Given the description of an element on the screen output the (x, y) to click on. 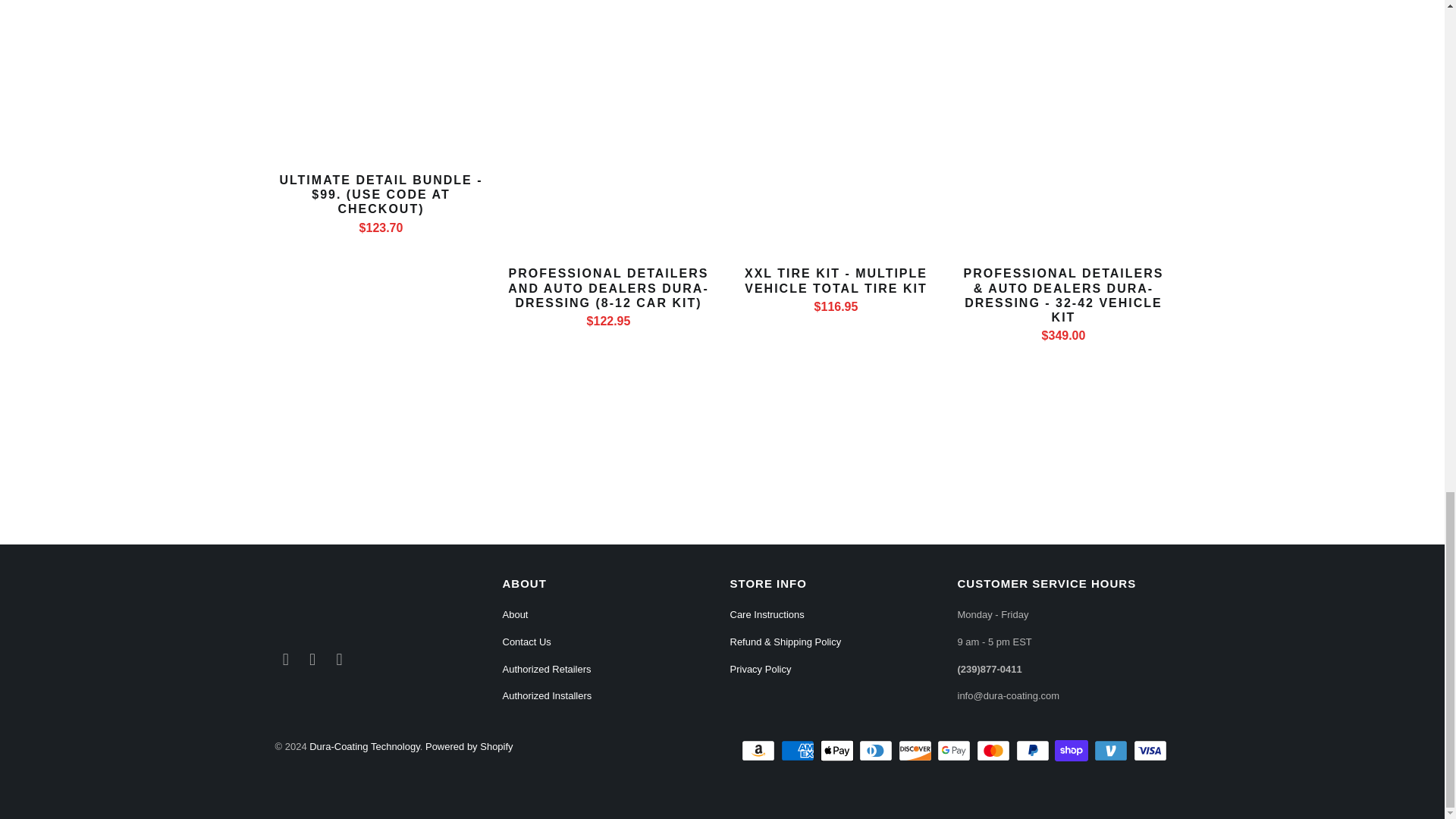
Venmo (1112, 750)
PayPal (1034, 750)
Dura-Coating Technology on Facebook (286, 659)
Shop Pay (1072, 750)
Dura-Coating Technology on YouTube (312, 659)
Diners Club (877, 750)
American Express (798, 750)
Mastercard (994, 750)
Apple Pay (839, 750)
Discover (916, 750)
